Given the description of an element on the screen output the (x, y) to click on. 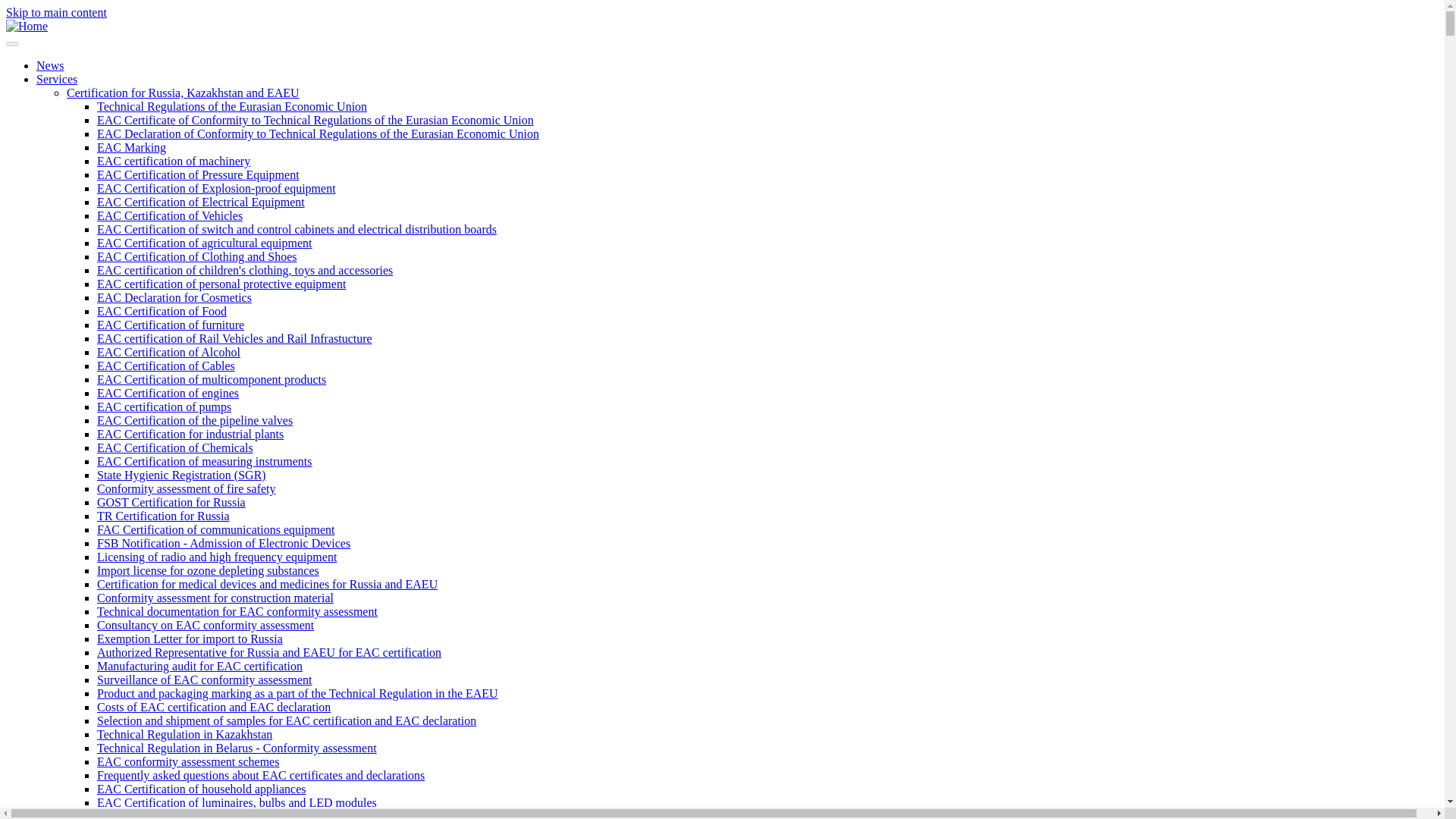
EAC Certification of Chemicals (175, 447)
EAC certification of Rail Vehicles and Rail Infrastucture (234, 338)
EAC Certification of agricultural equipment (204, 242)
EAC-Zertifizierung von Pumpen (164, 406)
Services (56, 78)
EAC Certification of Cables (165, 365)
EAC Certification of Explosion-proof equipment (216, 187)
FAC Certification of communications equipment (215, 529)
EAC Certification of furniture (170, 324)
Skip to main content (55, 11)
EAC certification of personal protective equipment (221, 283)
Conformity assessment of fire safety (186, 488)
EAC Certification of multicomponent products (211, 379)
EAC Certification of Alcohol (168, 351)
